Given the description of an element on the screen output the (x, y) to click on. 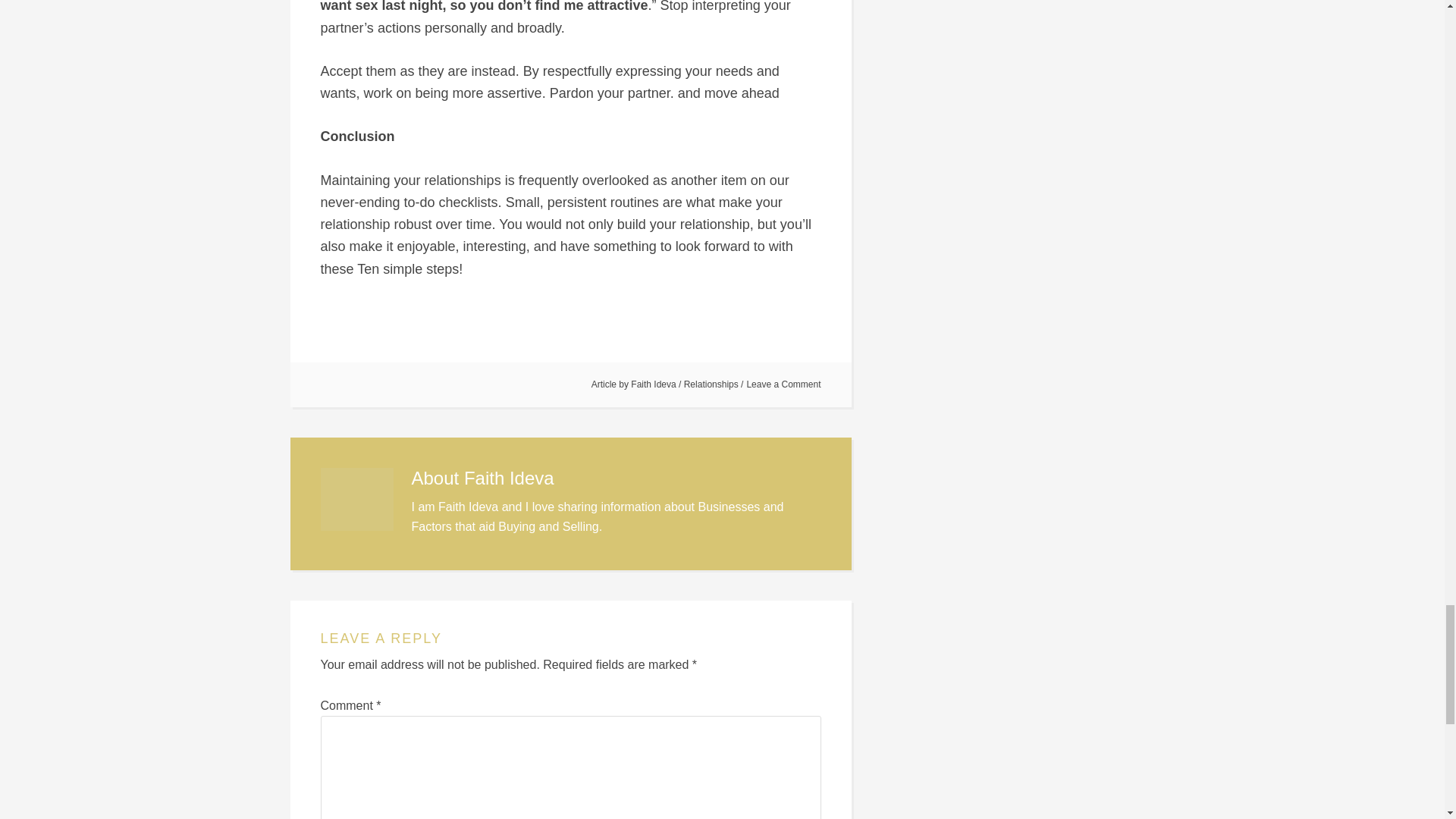
Relationships (711, 384)
Leave a Comment (783, 384)
Faith Ideva (652, 384)
